Given the description of an element on the screen output the (x, y) to click on. 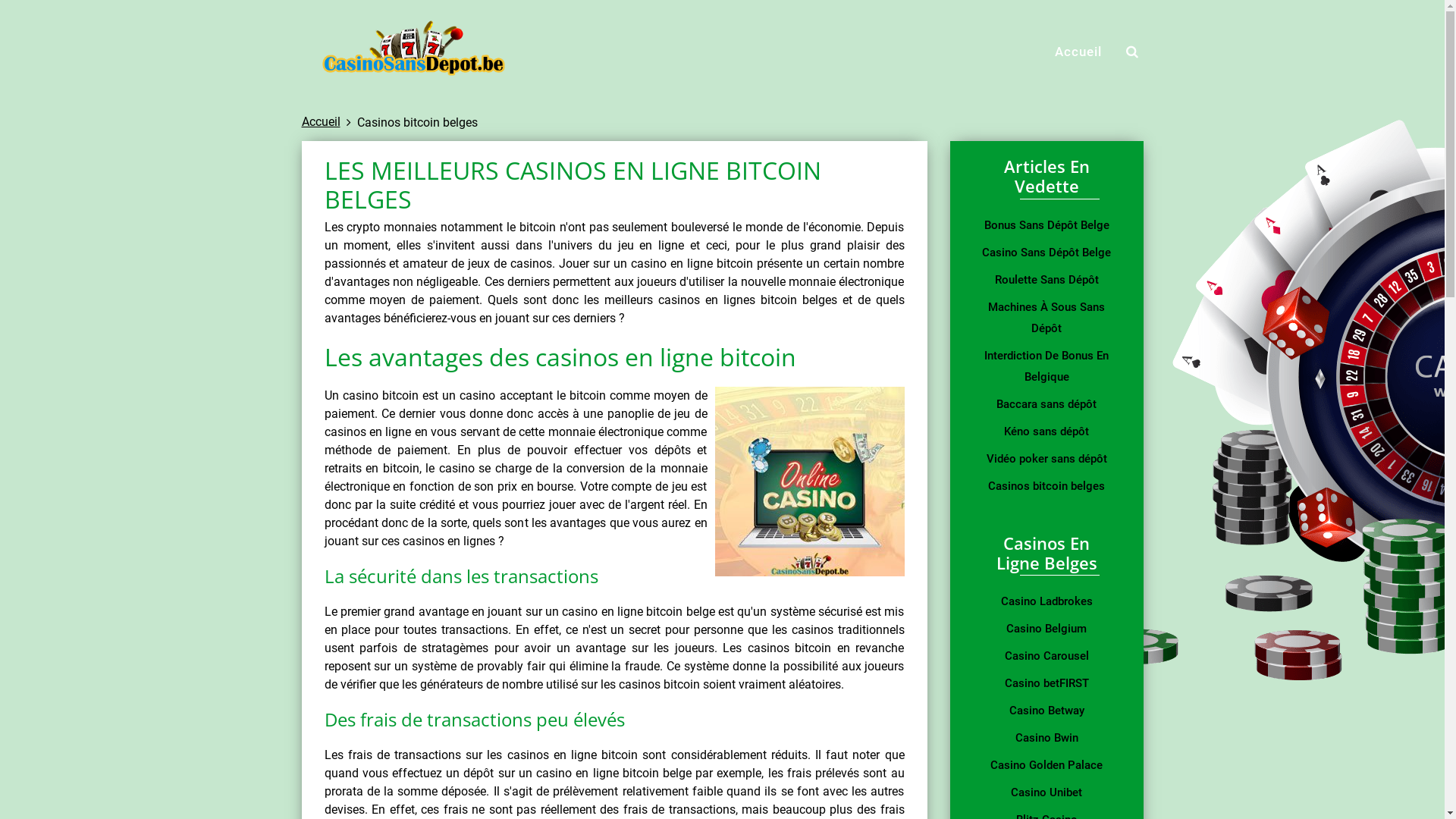
Accueil Element type: text (1077, 51)
Interdiction De Bonus En Belgique Element type: text (1045, 366)
Casinos bitcoin belges Element type: text (1045, 485)
Accueil Element type: text (320, 121)
Casino Golden Palace Element type: text (1045, 764)
Casino Belgium Element type: text (1045, 628)
Casino betFIRST Element type: text (1045, 682)
Casino Unibet Element type: text (1045, 792)
Casino Ladbrokes Element type: text (1045, 600)
Casino Carousel Element type: text (1045, 655)
Casino Betway Element type: text (1045, 710)
Casino Bwin Element type: text (1045, 737)
